Given the description of an element on the screen output the (x, y) to click on. 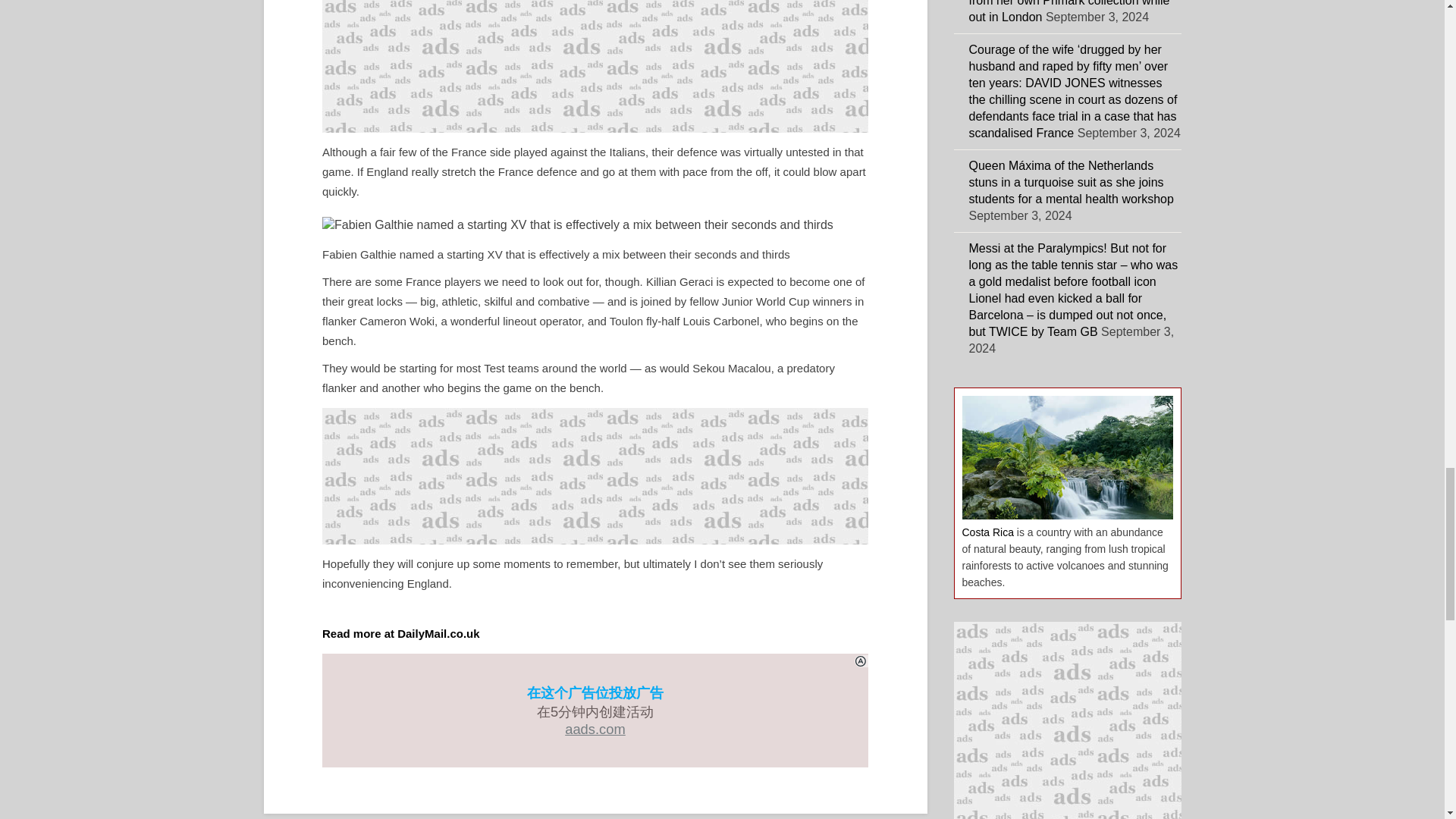
Costa Rica (986, 532)
Read more at DailyMail.co.uk (400, 633)
